Given the description of an element on the screen output the (x, y) to click on. 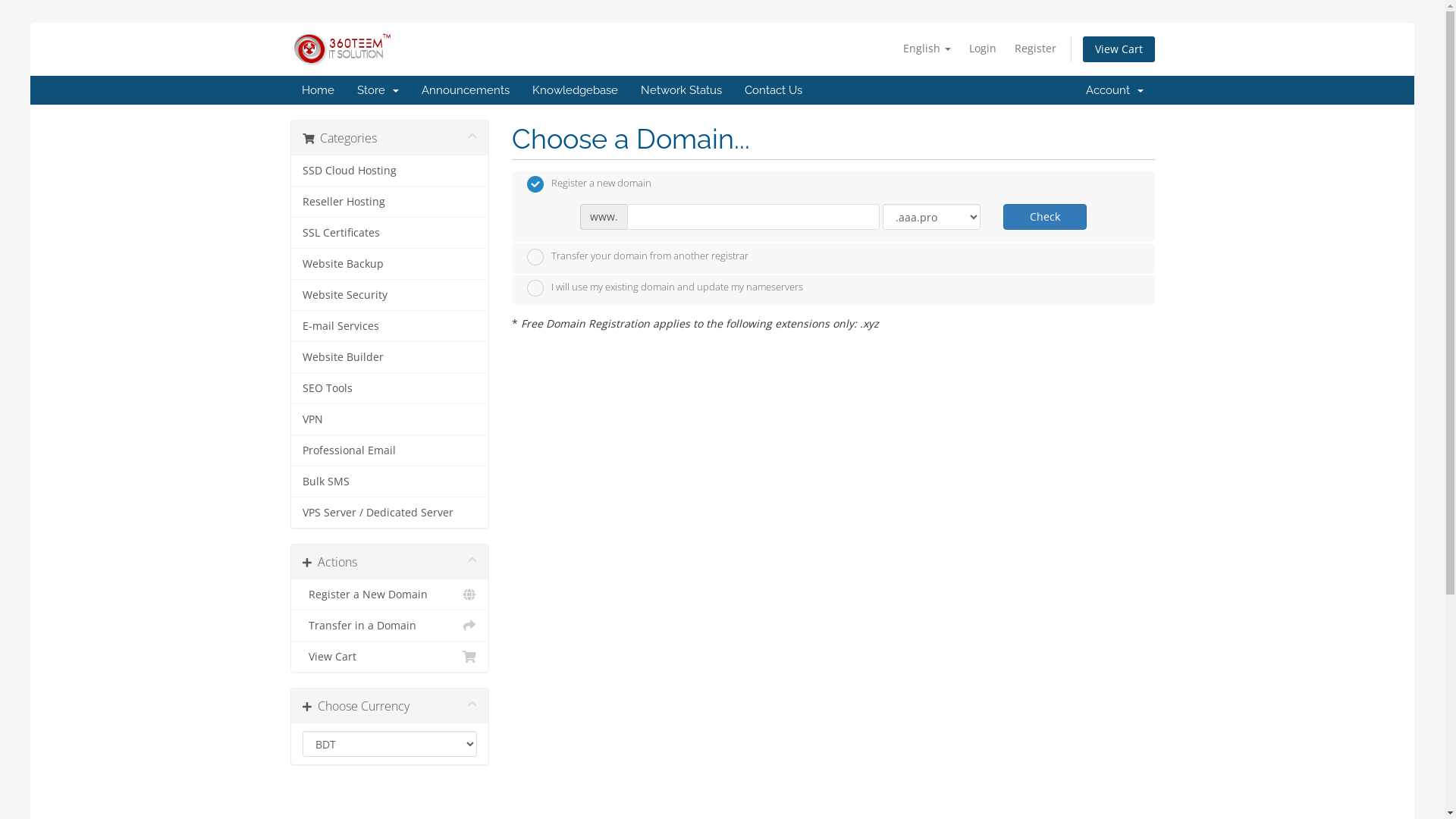
View Cart Element type: text (1118, 49)
Website Backup Element type: text (390, 263)
Bulk SMS Element type: text (390, 481)
Reseller Hosting Element type: text (390, 201)
Announcements Element type: text (464, 89)
Network Status Element type: text (681, 89)
  View Cart Element type: text (390, 656)
Professional Email Element type: text (390, 450)
SSD Cloud Hosting Element type: text (390, 170)
Website Security Element type: text (390, 294)
Home Element type: text (317, 89)
Store   Element type: text (377, 89)
Account   Element type: text (1113, 89)
Login Element type: text (982, 48)
  Transfer in a Domain Element type: text (390, 625)
English Element type: text (925, 48)
Website Builder Element type: text (390, 357)
SEO Tools Element type: text (390, 388)
E-mail Services Element type: text (390, 326)
SSL Certificates Element type: text (390, 232)
VPS Server / Dedicated Server Element type: text (390, 512)
Contact Us Element type: text (772, 89)
Check Element type: text (1044, 216)
  Register a New Domain Element type: text (390, 594)
Knowledgebase Element type: text (574, 89)
VPN Element type: text (390, 419)
Register Element type: text (1035, 48)
Please enter your domain Element type: hover (753, 216)
